Given the description of an element on the screen output the (x, y) to click on. 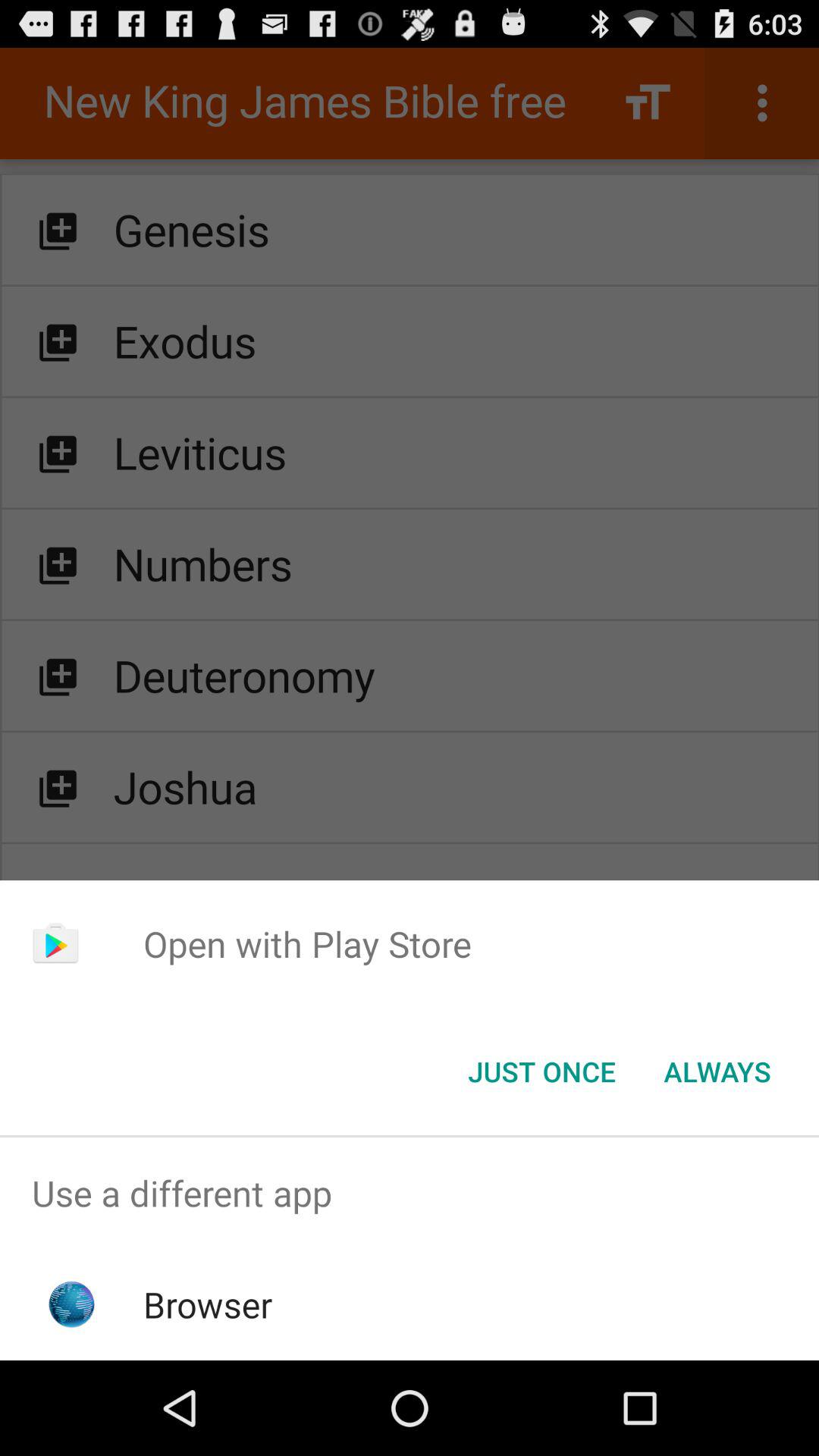
turn on item below the open with play item (717, 1071)
